Given the description of an element on the screen output the (x, y) to click on. 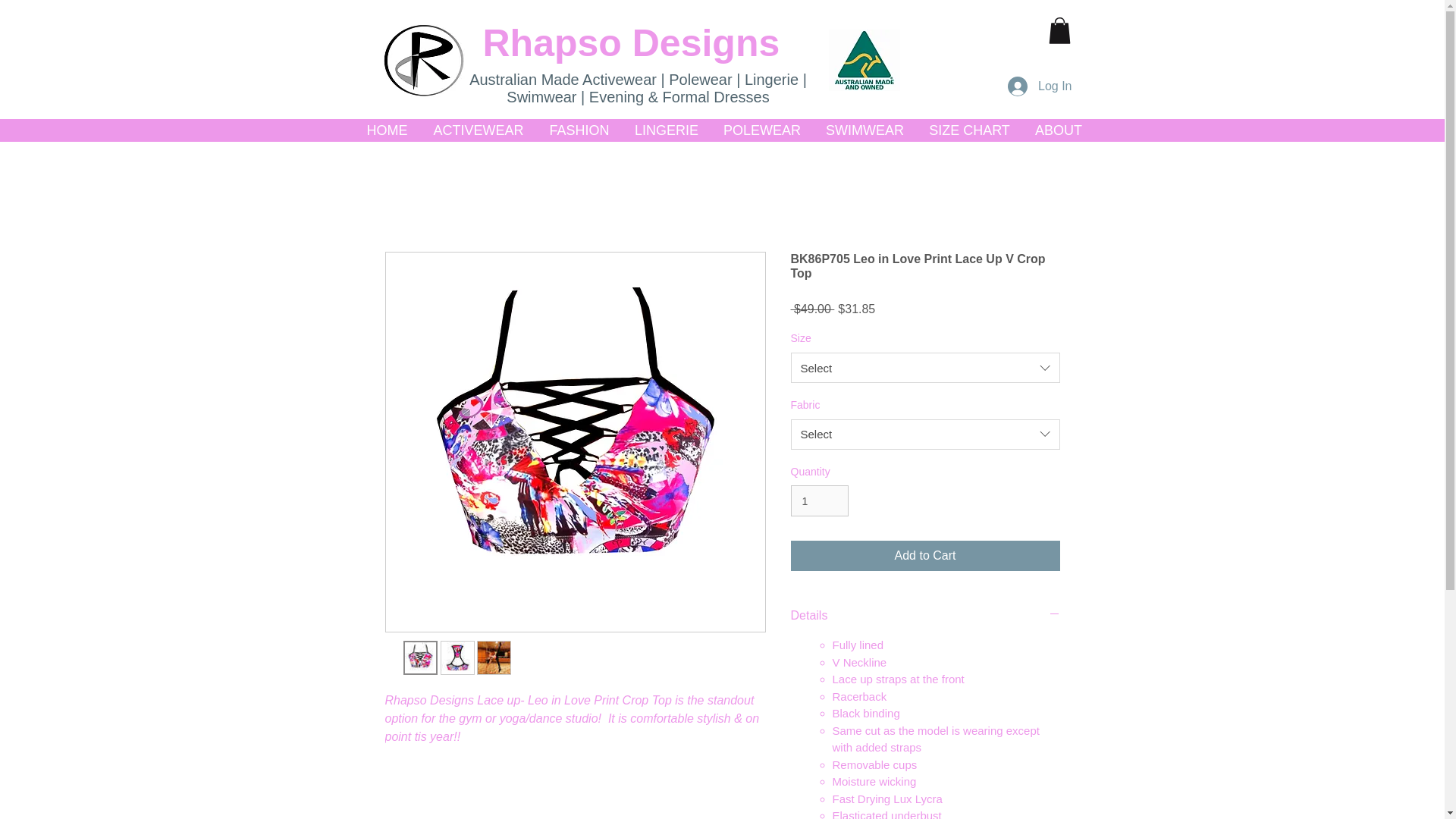
Log In (1039, 86)
FASHION (580, 129)
POLEWEAR (762, 129)
SWIMWEAR (863, 129)
LINGERIE (665, 129)
HOME (386, 129)
1 (818, 500)
ACTIVEWEAR (477, 129)
